Given the description of an element on the screen output the (x, y) to click on. 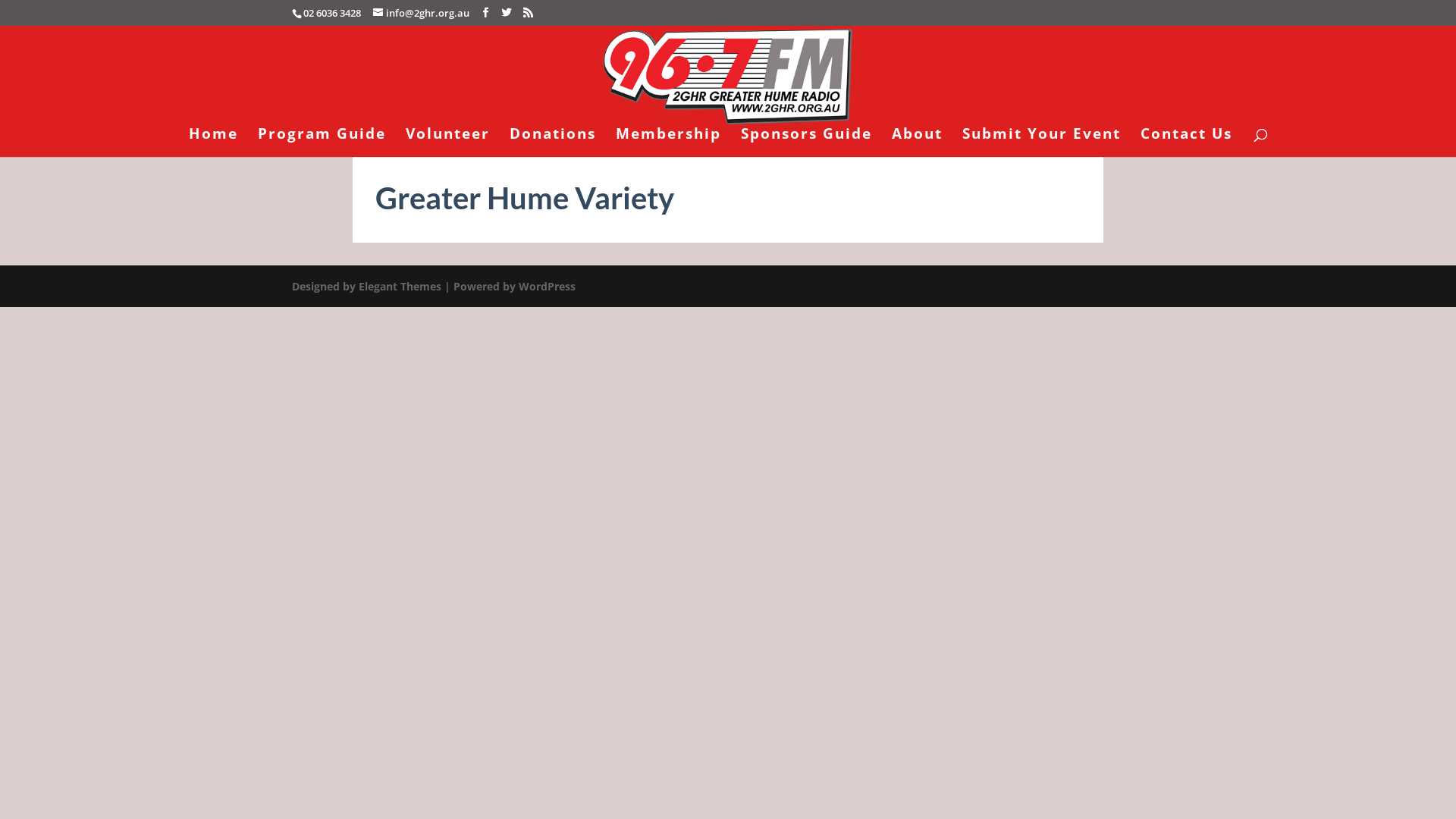
Home Element type: text (213, 141)
Donations Element type: text (552, 141)
About Element type: text (916, 141)
Program Guide Element type: text (321, 141)
WordPress Element type: text (546, 286)
Sponsors Guide Element type: text (806, 141)
Submit Your Event Element type: text (1041, 141)
Contact Us Element type: text (1186, 141)
info@2ghr.org.au Element type: text (421, 12)
Membership Element type: text (668, 141)
Elegant Themes Element type: text (399, 286)
Volunteer Element type: text (447, 141)
